Given the description of an element on the screen output the (x, y) to click on. 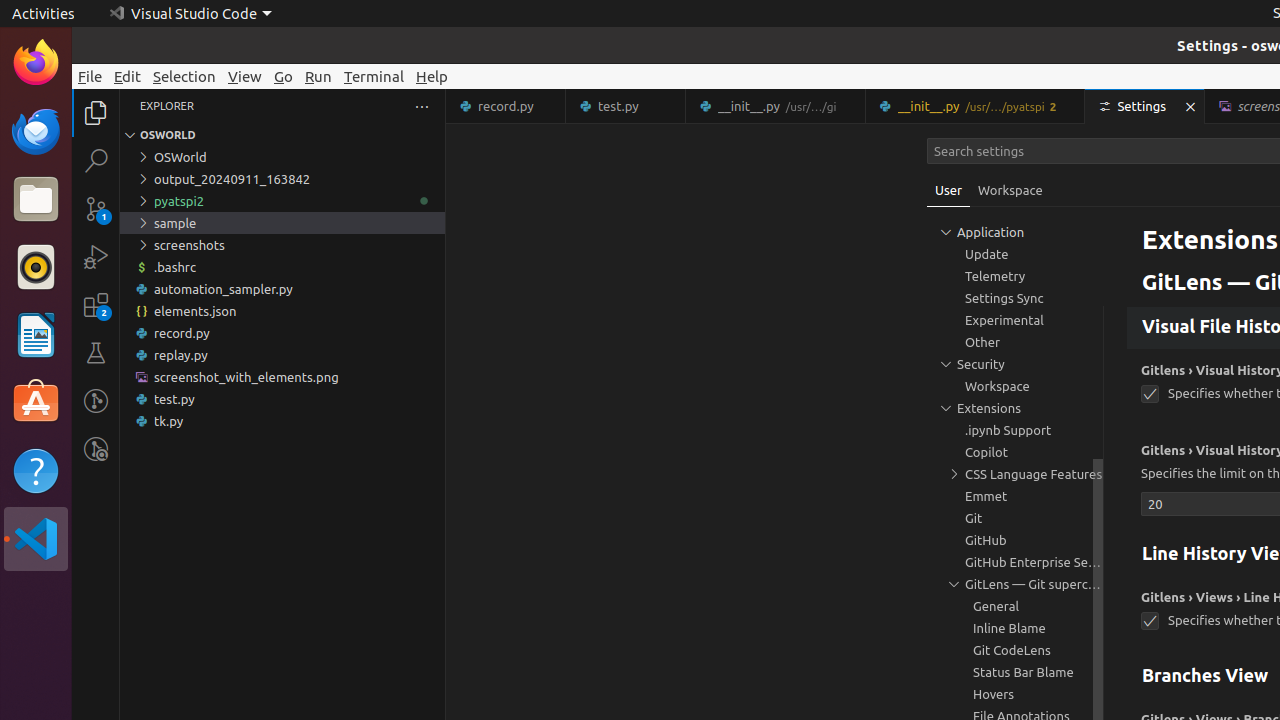
User Element type: check-box (949, 190)
gitlens.views.lineHistory.avatars Element type: check-box (1150, 621)
Extensions, group Element type: tree-item (1015, 408)
screenshots Element type: tree-item (282, 245)
.bashrc Element type: tree-item (282, 267)
